Given the description of an element on the screen output the (x, y) to click on. 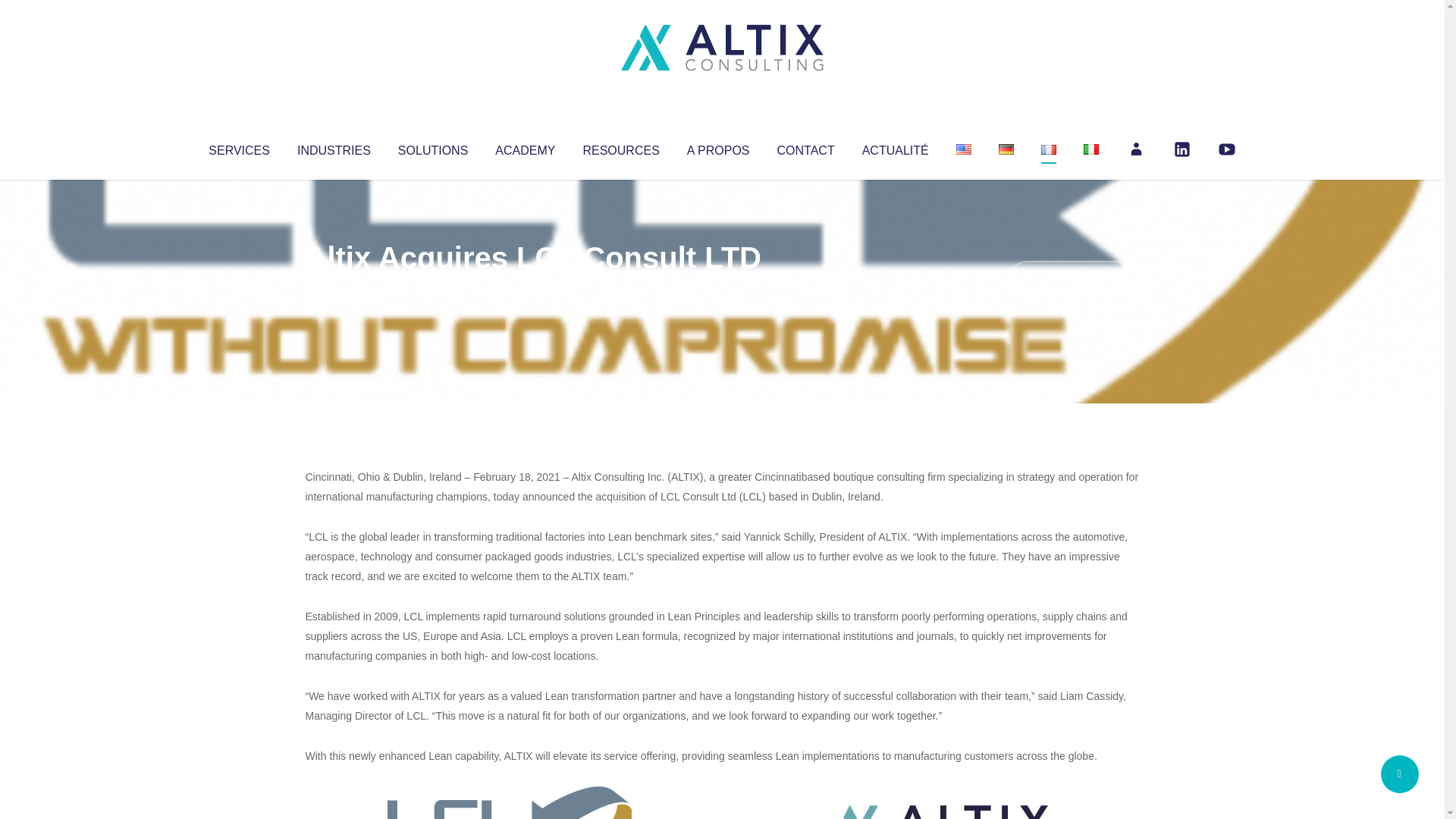
ACADEMY (524, 146)
Uncategorized (530, 287)
INDUSTRIES (334, 146)
A PROPOS (718, 146)
SERVICES (238, 146)
RESOURCES (620, 146)
SOLUTIONS (432, 146)
Articles par Altix (333, 287)
No Comments (1073, 278)
Altix (333, 287)
